Given the description of an element on the screen output the (x, y) to click on. 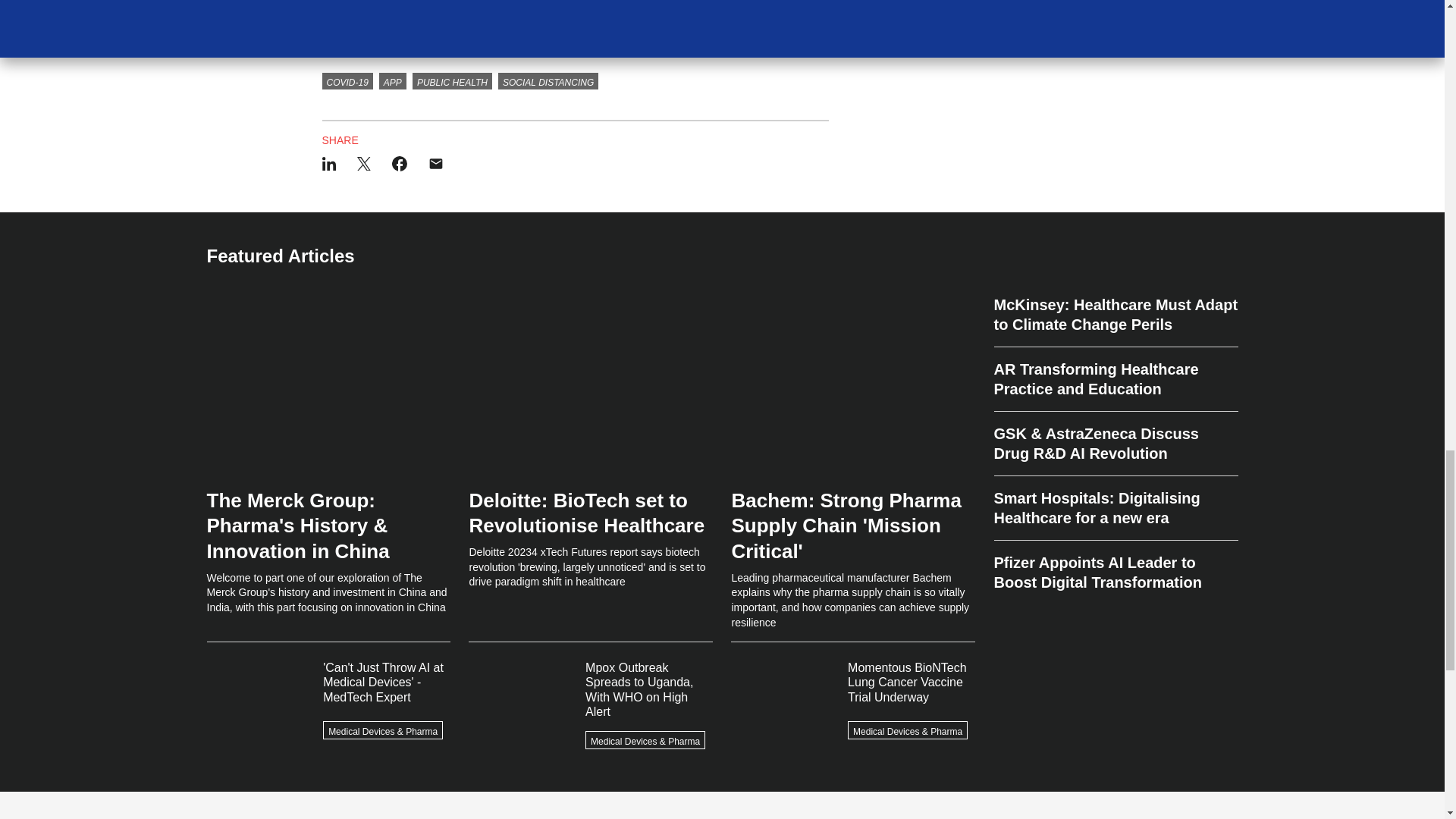
SOCIAL DISTANCING (547, 80)
COVID-19 (346, 80)
McKinsey: Healthcare Must Adapt to Climate Change Perils (1114, 320)
PUBLIC HEALTH (452, 80)
AR Transforming Healthcare Practice and Education (1114, 379)
Pfizer Appoints AI Leader to Boost Digital Transformation (1114, 566)
APP (392, 80)
Smart Hospitals: Digitalising Healthcare for a new era (1114, 507)
